Given the description of an element on the screen output the (x, y) to click on. 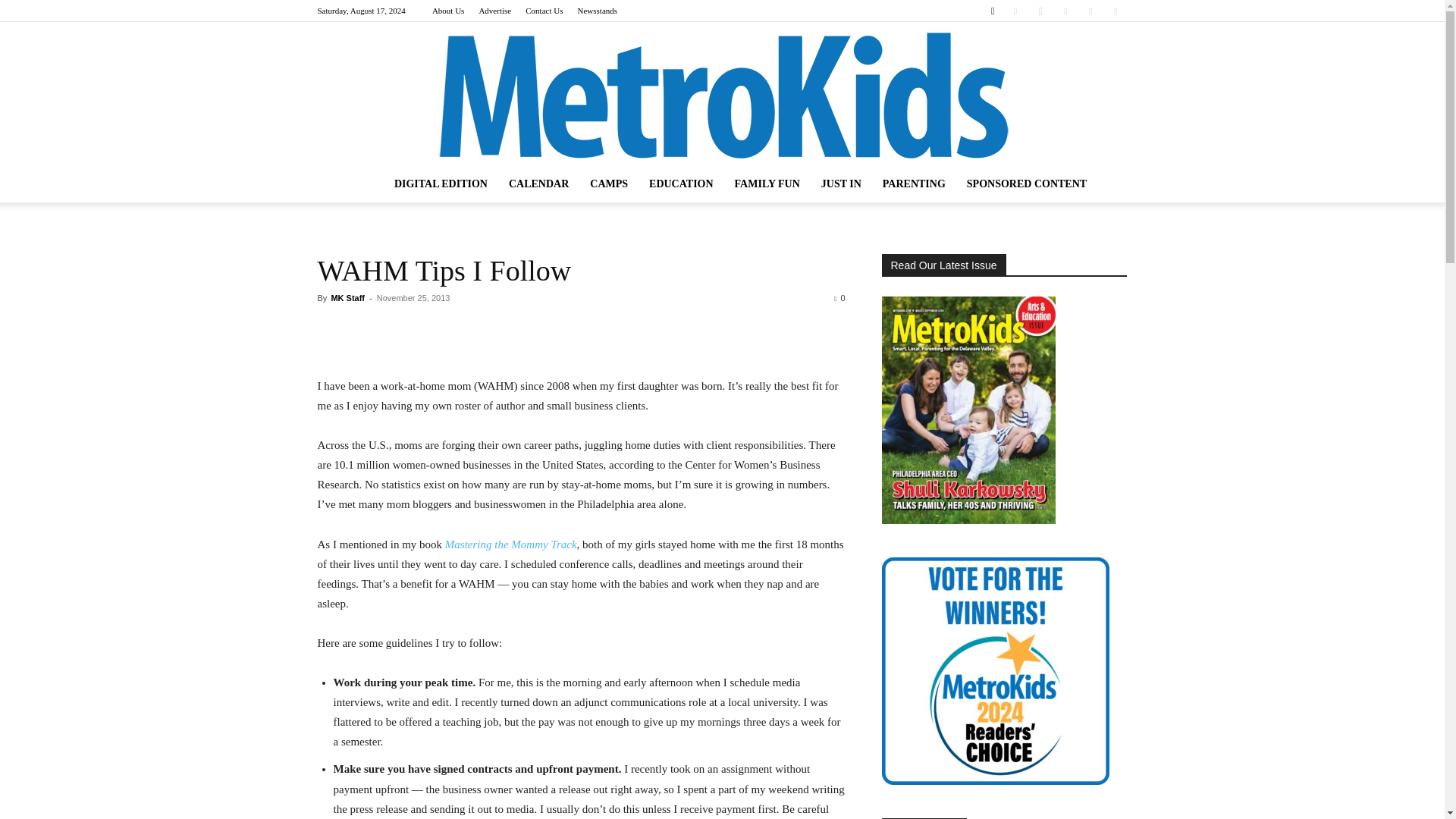
FAMILY FUN (766, 184)
Twitter (1090, 10)
About Us (448, 10)
DIGITAL EDITION (440, 184)
CAMPS (609, 184)
Contact Us (543, 10)
Pinterest (1065, 10)
Newsstands (597, 10)
SPONSORED CONTENT (1026, 184)
Metrokids Magazine (722, 94)
